Given the description of an element on the screen output the (x, y) to click on. 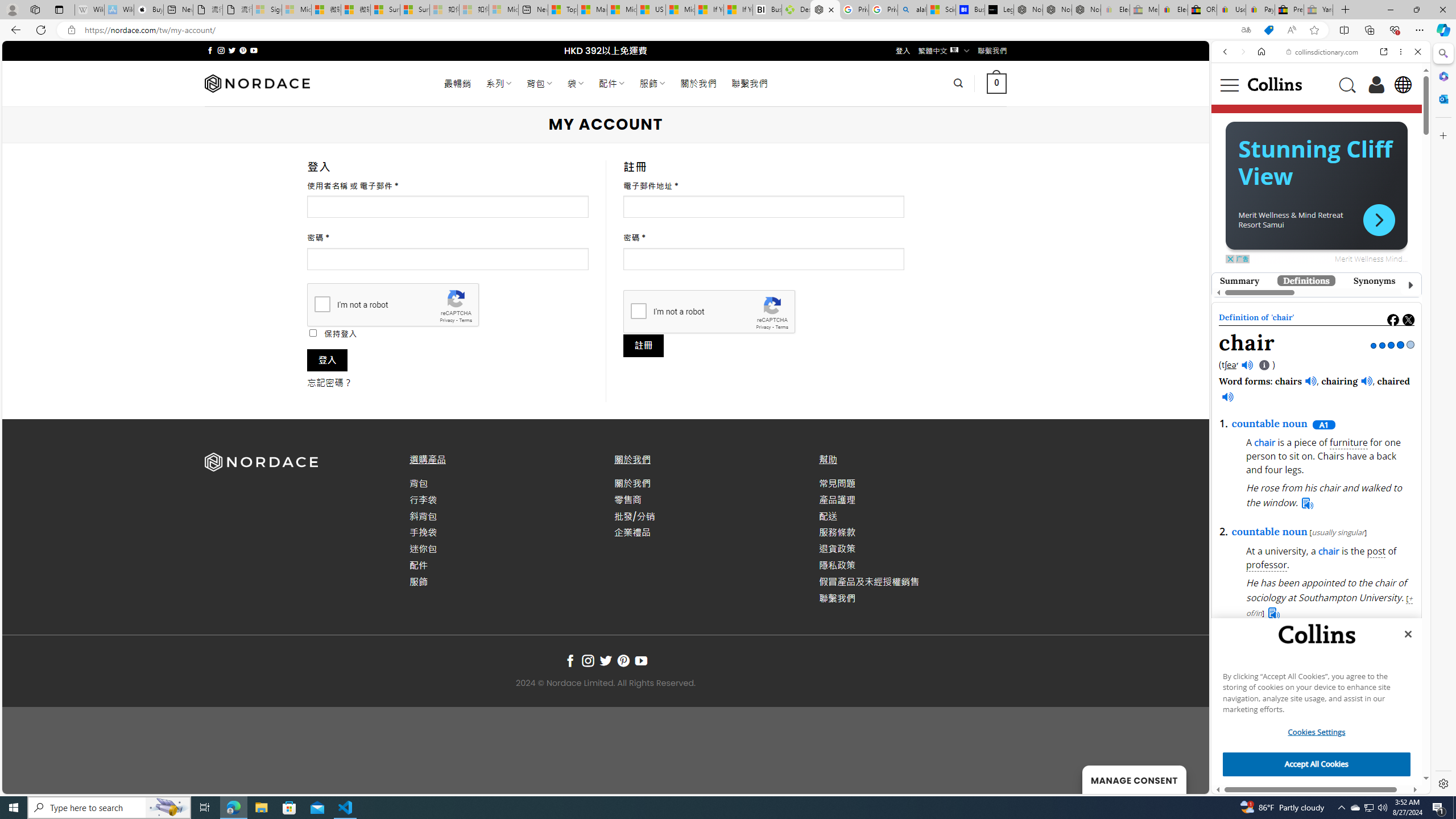
What does a chair mean? (1304, 656)
Oxford Languages (1379, 159)
Yard, Garden & Outdoor Living - Sleeping (1318, 9)
Class: ns-14utm-e-1 svg-anchor (1312, 306)
